Given the description of an element on the screen output the (x, y) to click on. 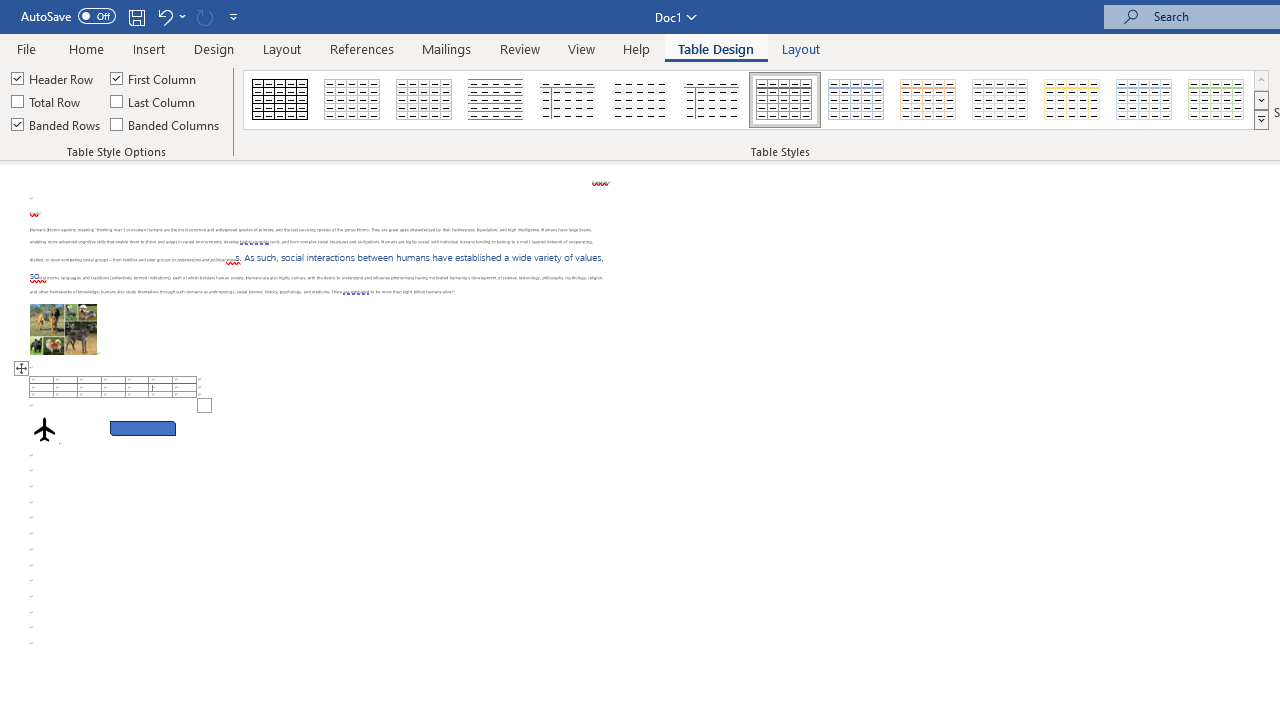
Can't Repeat (204, 15)
Undo Row Height Spinner (170, 15)
Table Grid (280, 100)
Header Row (53, 78)
